Given the description of an element on the screen output the (x, y) to click on. 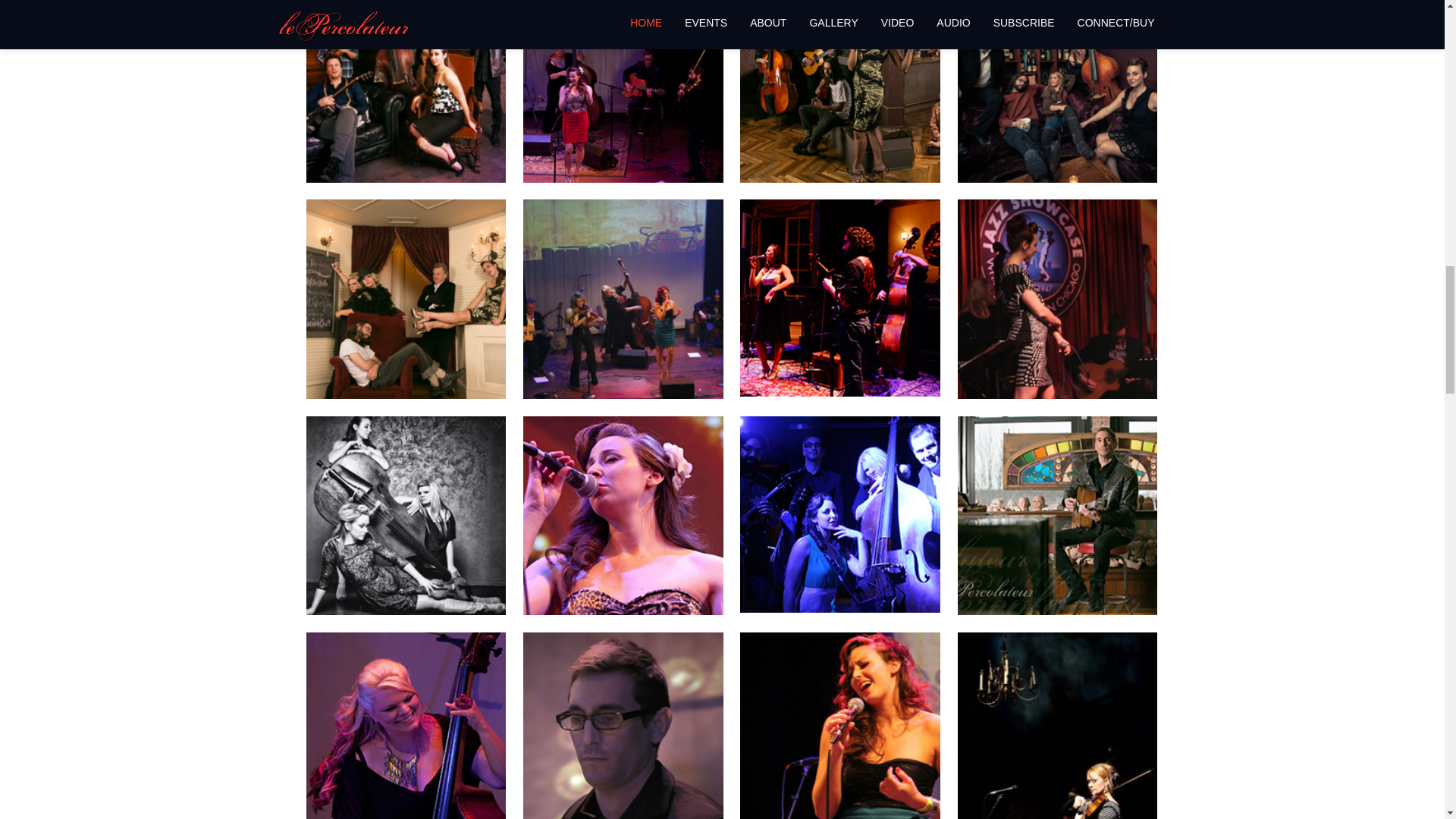
lePercolateur (622, 81)
Jason (1057, 513)
lePercolatuer (1057, 297)
Jason (622, 729)
lePercolateur (405, 81)
cd release concert (622, 297)
lePercolateur (839, 297)
lePercolateur (839, 512)
lePercolateur (839, 81)
Candace (839, 729)
lePercolateur (1057, 81)
lePercolateur (405, 297)
Stacy (405, 729)
Candace (622, 513)
